Given the description of an element on the screen output the (x, y) to click on. 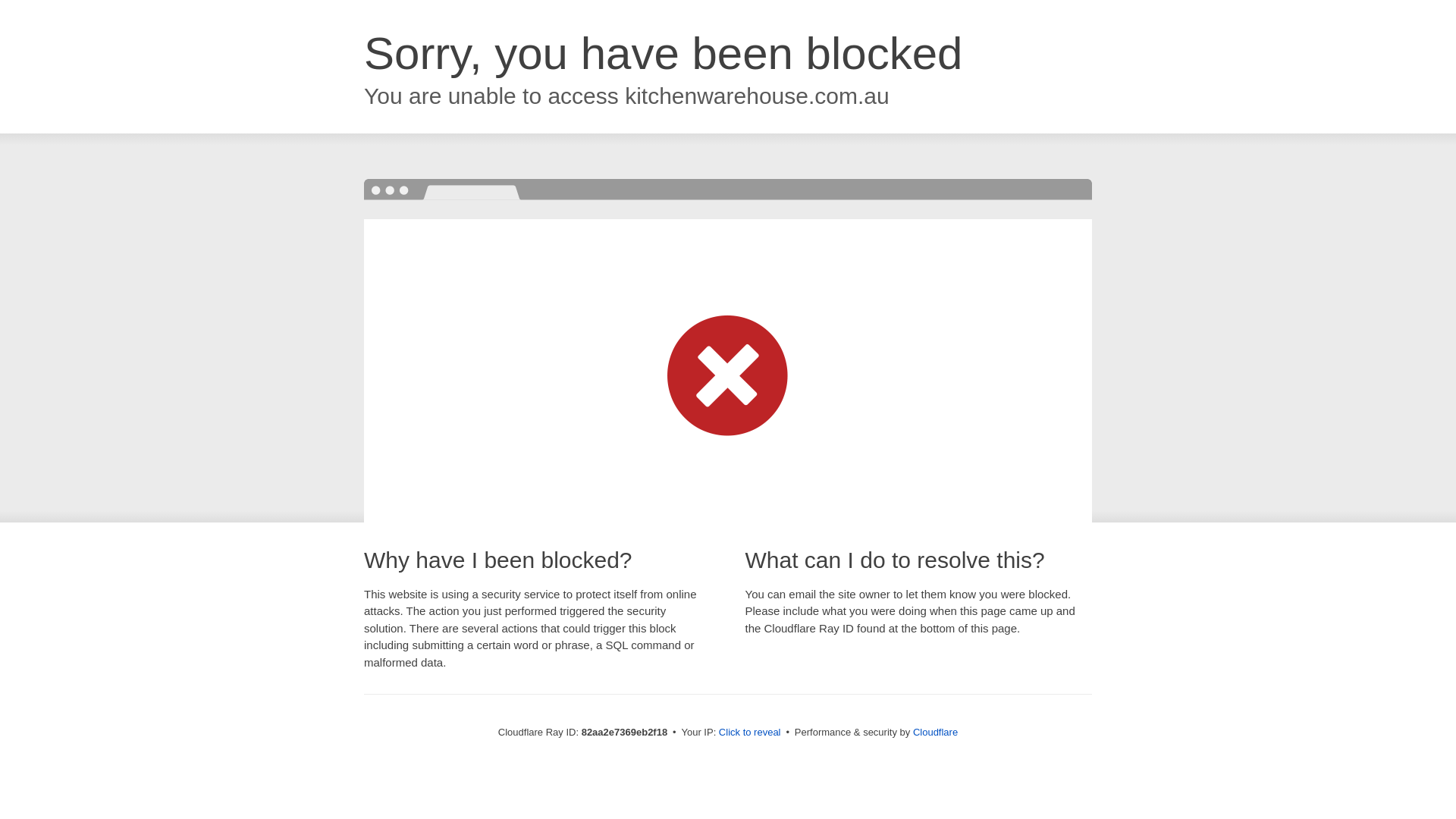
Click to reveal Element type: text (749, 732)
Cloudflare Element type: text (935, 731)
